Given the description of an element on the screen output the (x, y) to click on. 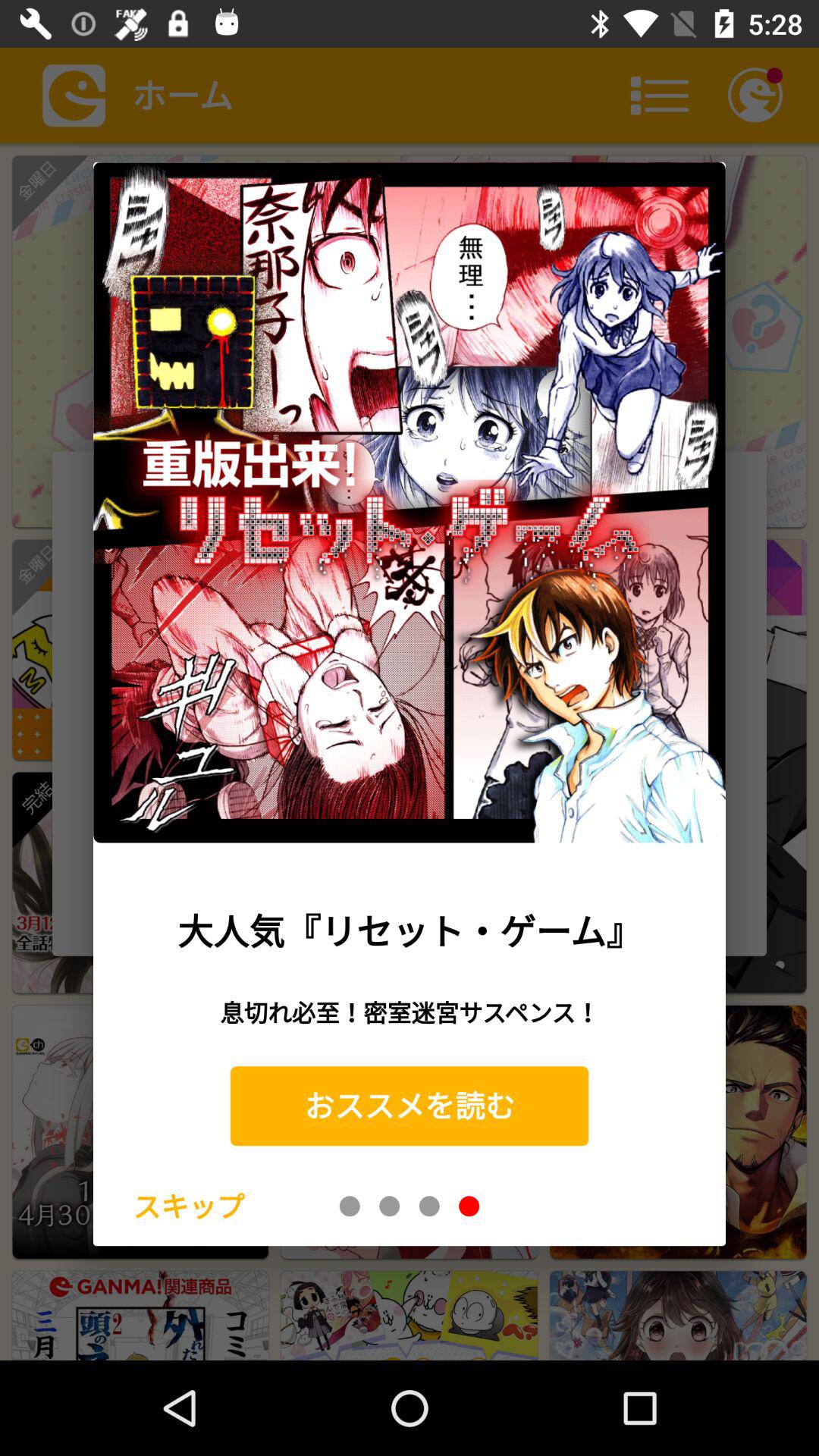
go to screen 1 (349, 1206)
